Given the description of an element on the screen output the (x, y) to click on. 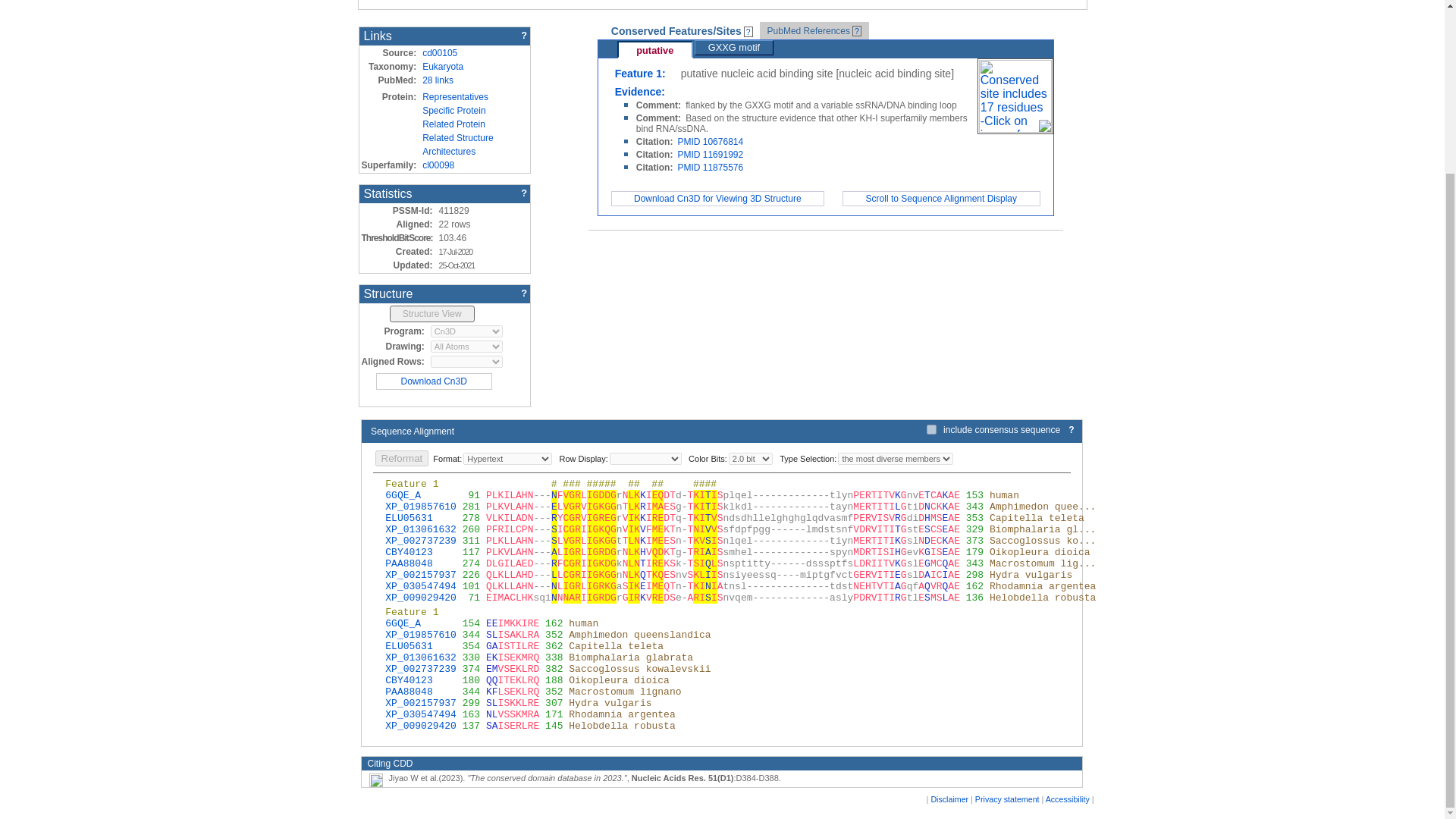
PMID 11691992 (709, 154)
Related Protein (453, 123)
Representatives (454, 96)
Reformat (401, 458)
Scroll to Sequence Alignment Display (941, 198)
Related Structure (457, 137)
Structure View (432, 313)
? (1070, 429)
Architectures (449, 151)
Specific Protein (453, 110)
